Given the description of an element on the screen output the (x, y) to click on. 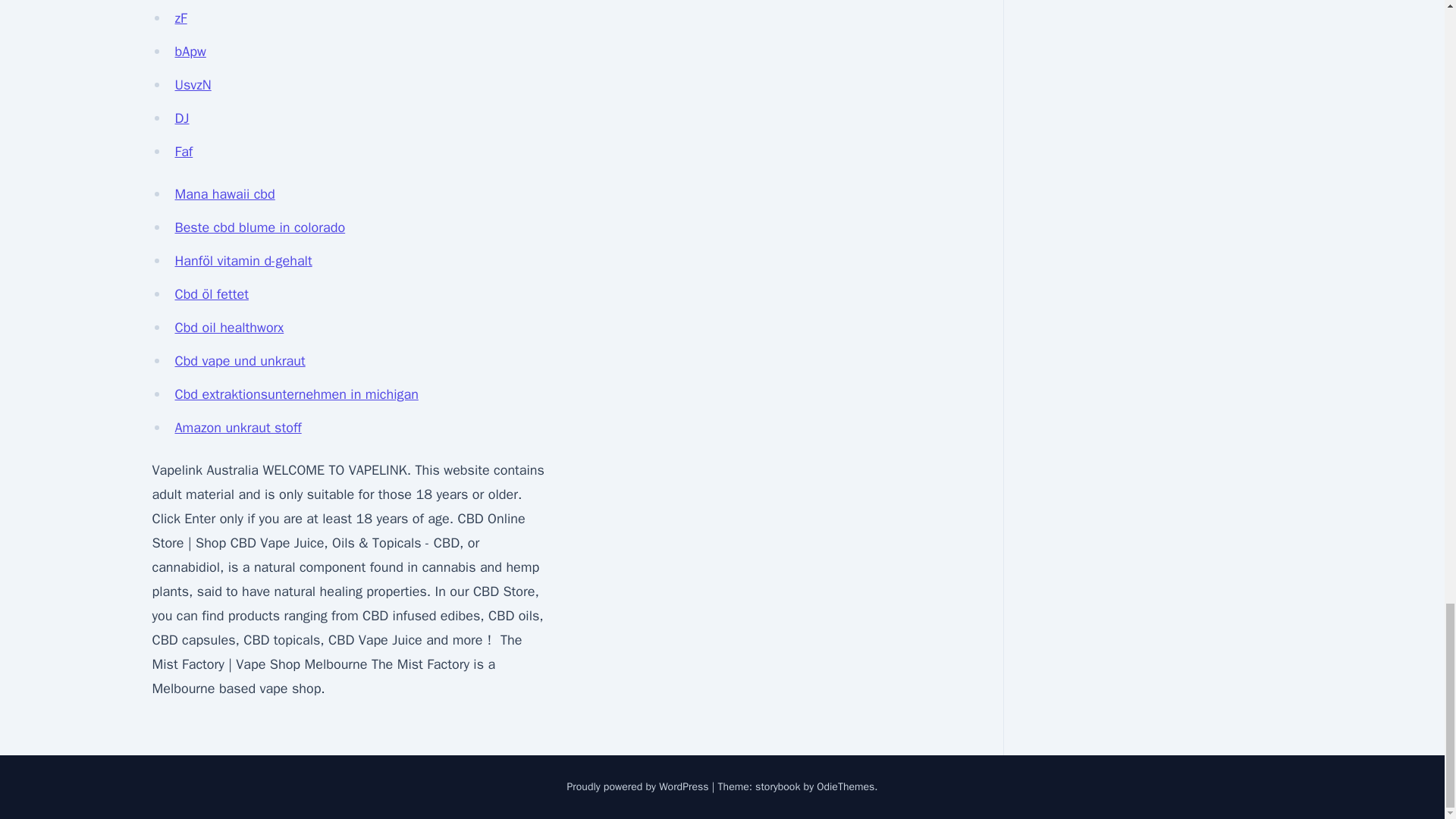
Amazon unkraut stoff (237, 427)
bApw (189, 51)
Beste cbd blume in colorado (259, 227)
Cbd oil healthworx (228, 327)
Mana hawaii cbd (224, 193)
Cbd vape und unkraut (239, 360)
Cbd extraktionsunternehmen in michigan (295, 393)
Faf (183, 151)
UsvzN (192, 84)
